Given the description of an element on the screen output the (x, y) to click on. 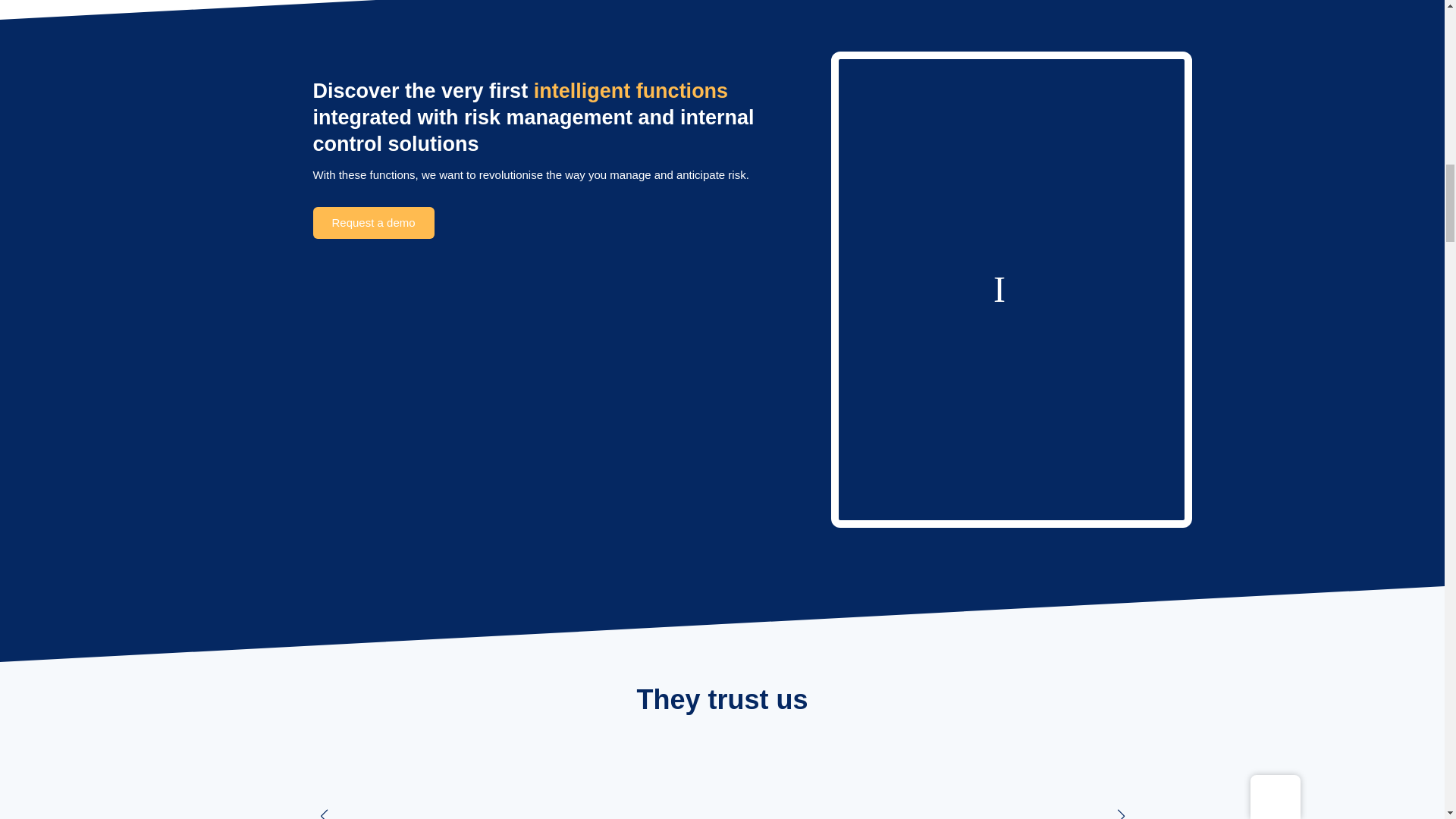
Request a demo (373, 223)
